Given the description of an element on the screen output the (x, y) to click on. 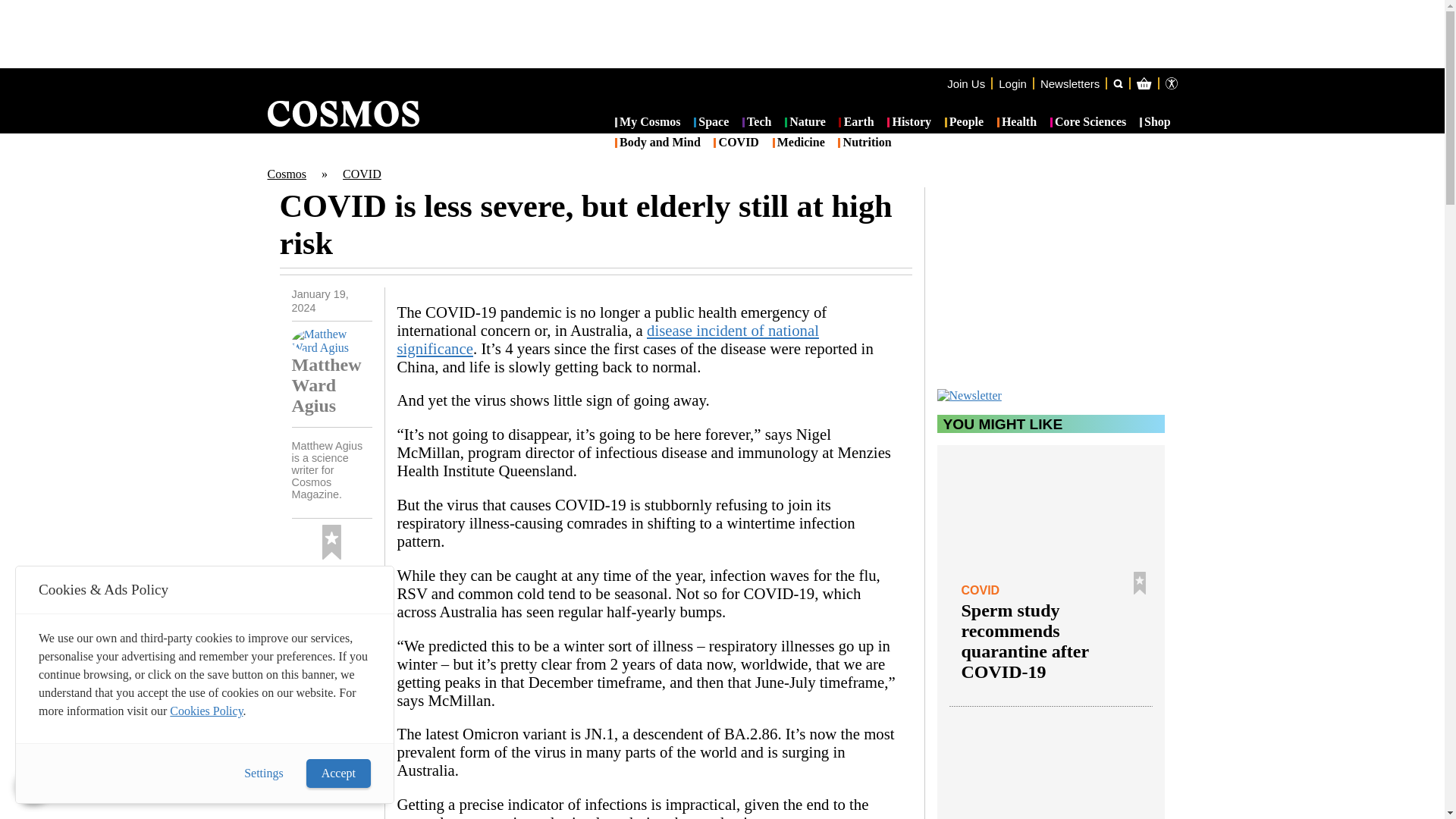
Newsletters (1070, 82)
Cart (1223, 144)
Earth (855, 122)
Nutrition (864, 143)
Nature (804, 122)
Tech (756, 122)
COVID (361, 173)
Core Sciences (1087, 122)
COVID (735, 143)
People (964, 122)
Cosmos (285, 173)
Body and Mind (657, 143)
Join Us (966, 82)
History (908, 122)
Space (711, 122)
